Given the description of an element on the screen output the (x, y) to click on. 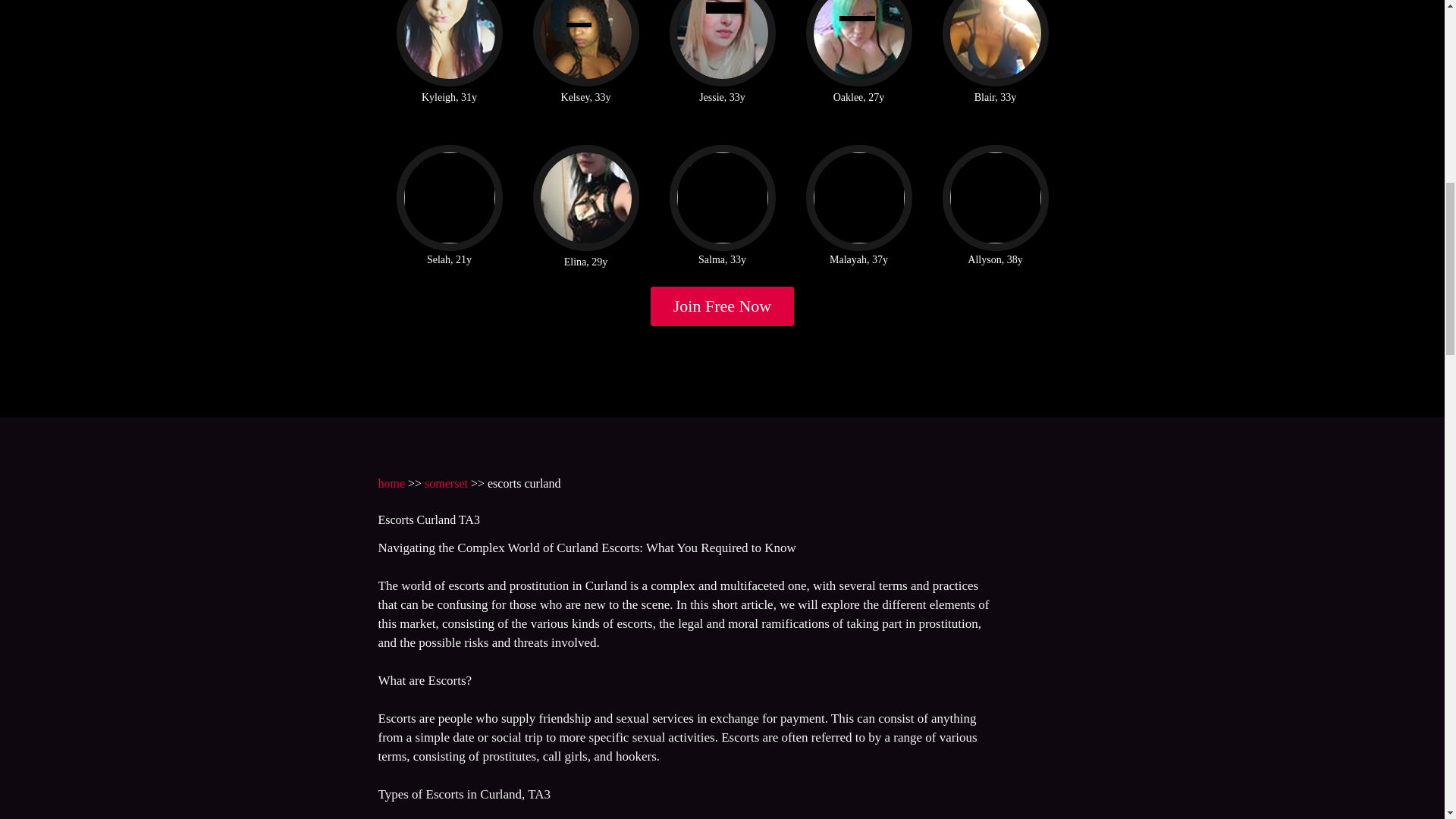
Join (722, 305)
Join Free Now (722, 305)
home (390, 482)
somerset (446, 482)
